Given the description of an element on the screen output the (x, y) to click on. 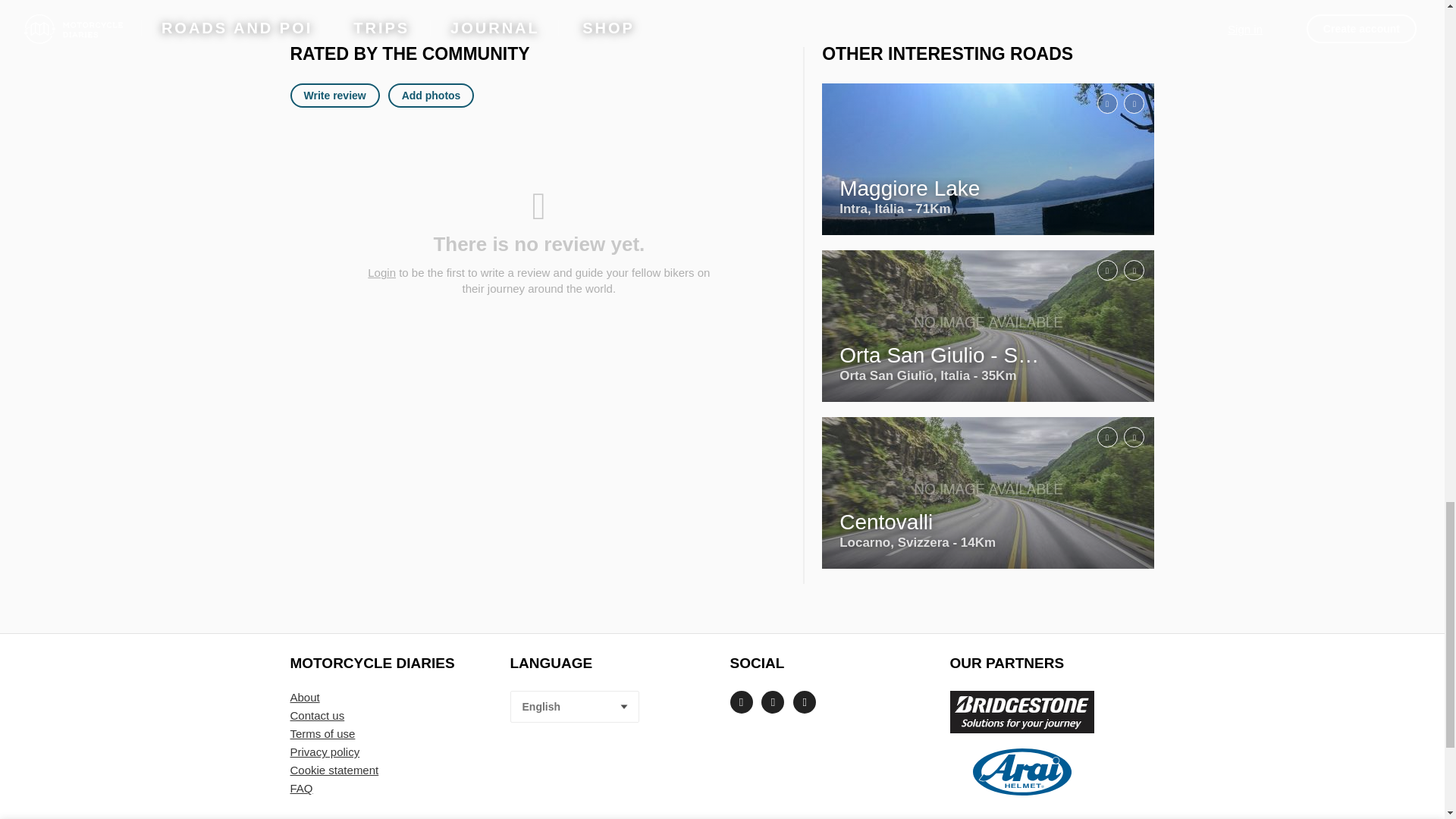
Login (382, 272)
Arai helmet (1021, 771)
Write review (333, 95)
Twisty (1125, 540)
Riverside (1096, 206)
Mountain (1096, 373)
Twisty (1125, 373)
Twisty (1125, 206)
Add photos (431, 95)
Mountain (1096, 540)
Bridgestone (1021, 711)
